Given the description of an element on the screen output the (x, y) to click on. 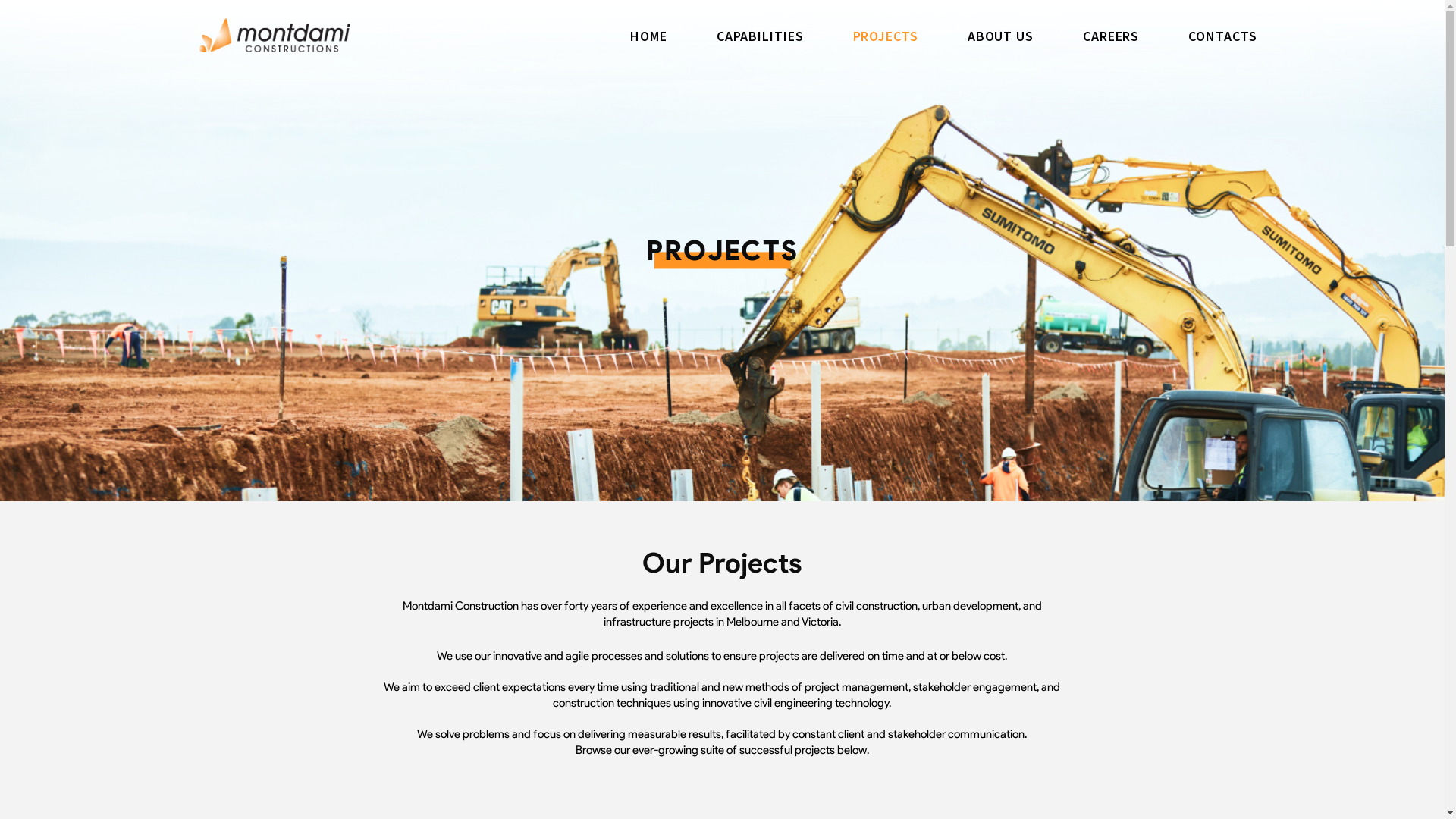
PROJECTS Element type: text (885, 35)
CONTACTS Element type: text (1222, 35)
ABOUT US Element type: text (1000, 35)
HOME Element type: text (648, 35)
CAREERS Element type: text (1110, 35)
CAPABILITIES Element type: text (759, 35)
